Given the description of an element on the screen output the (x, y) to click on. 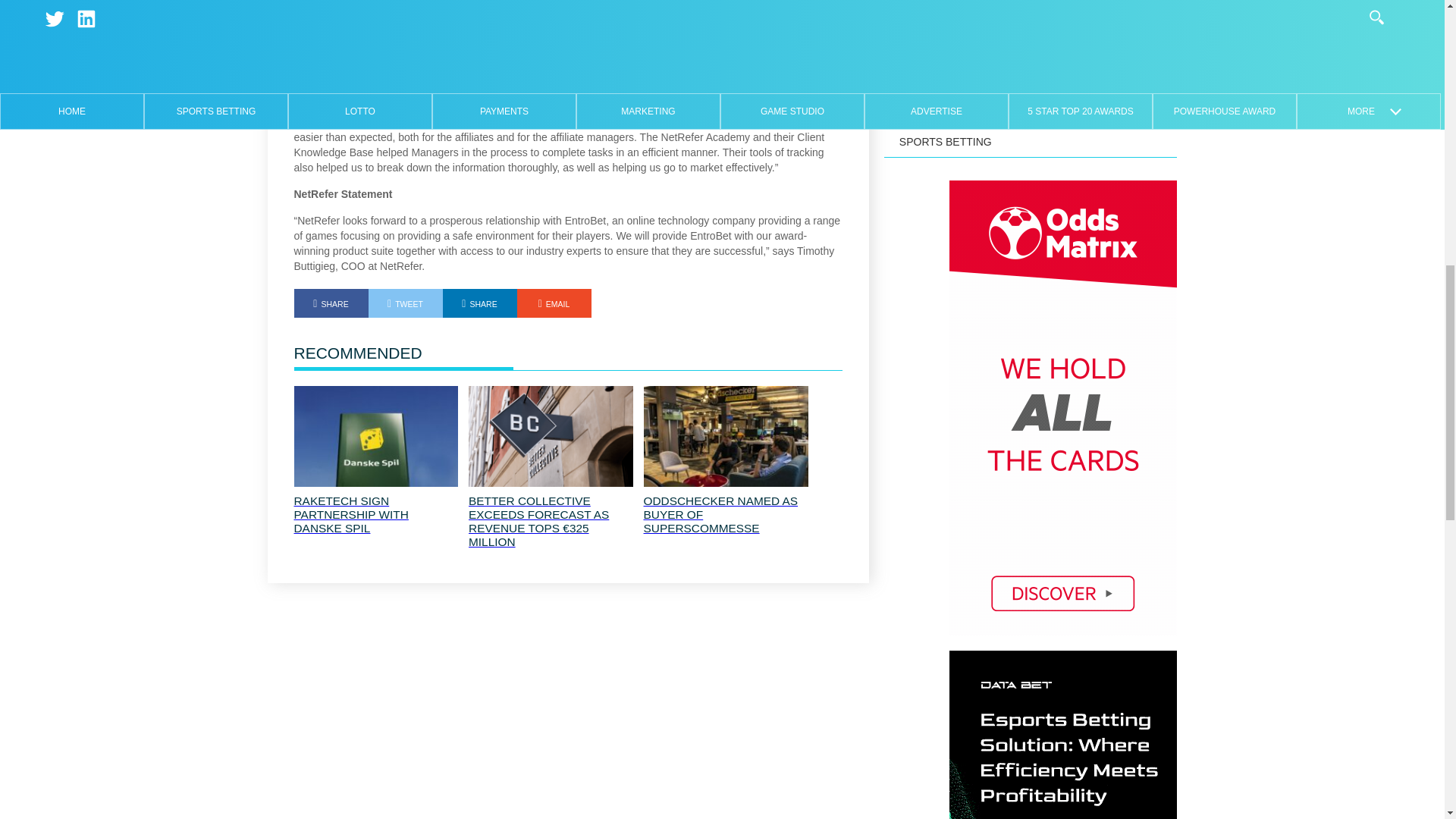
RAKETECH SIGN PARTNERSHIP WITH DANSKE SPIL (376, 514)
TWEET (405, 303)
ODDSCHECKER NAMED AS BUYER OF SUPERSCOMMESSE (725, 514)
SHARE (331, 303)
Linkedin (479, 303)
SHARE (479, 303)
Facebook (331, 303)
EMAIL (553, 303)
Twitter (405, 303)
Mail (553, 303)
